Given the description of an element on the screen output the (x, y) to click on. 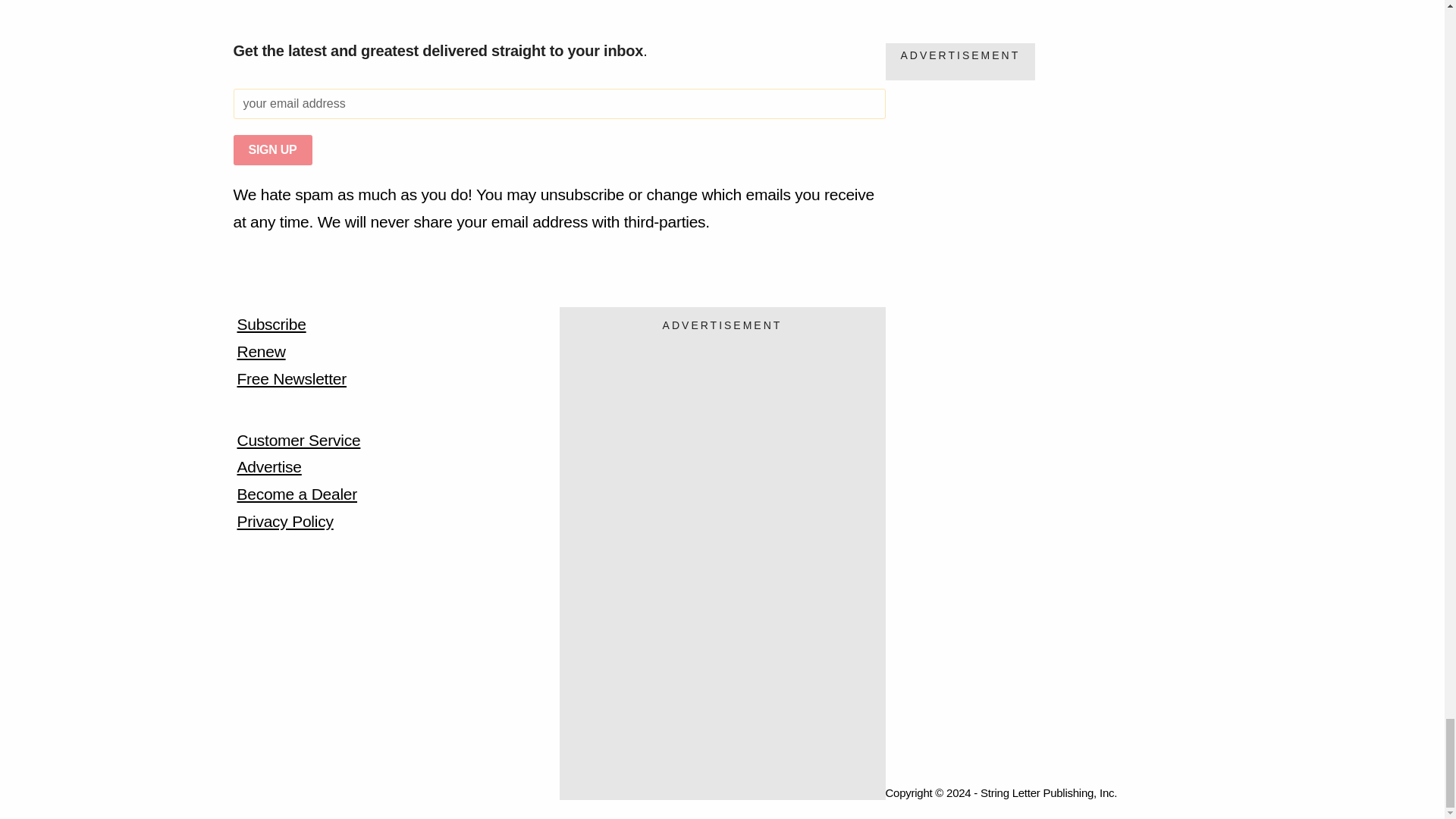
your email address (558, 103)
